Given the description of an element on the screen output the (x, y) to click on. 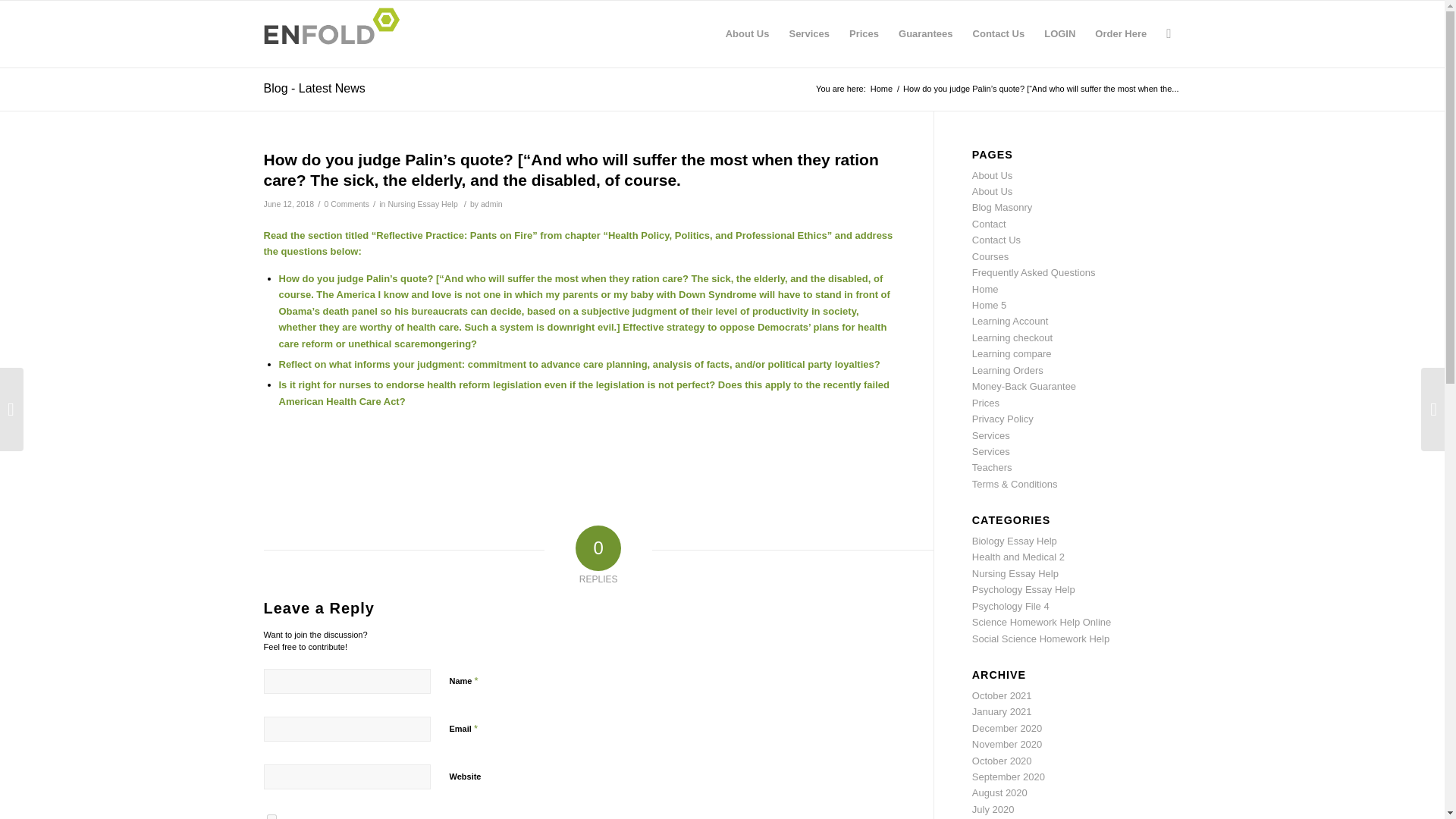
Permanent Link: Blog - Latest News (314, 88)
Teachers (991, 467)
Home (985, 288)
Posts by admin (491, 203)
Services (809, 33)
admin (491, 203)
Money-Back Guarantee (1023, 386)
Nursing Essay Help (422, 203)
Privacy Policy (1002, 419)
Home (881, 89)
About Us (991, 174)
0 Comments (346, 203)
Order Here (1120, 33)
Courses (990, 256)
Blog Masonry (1002, 206)
